Given the description of an element on the screen output the (x, y) to click on. 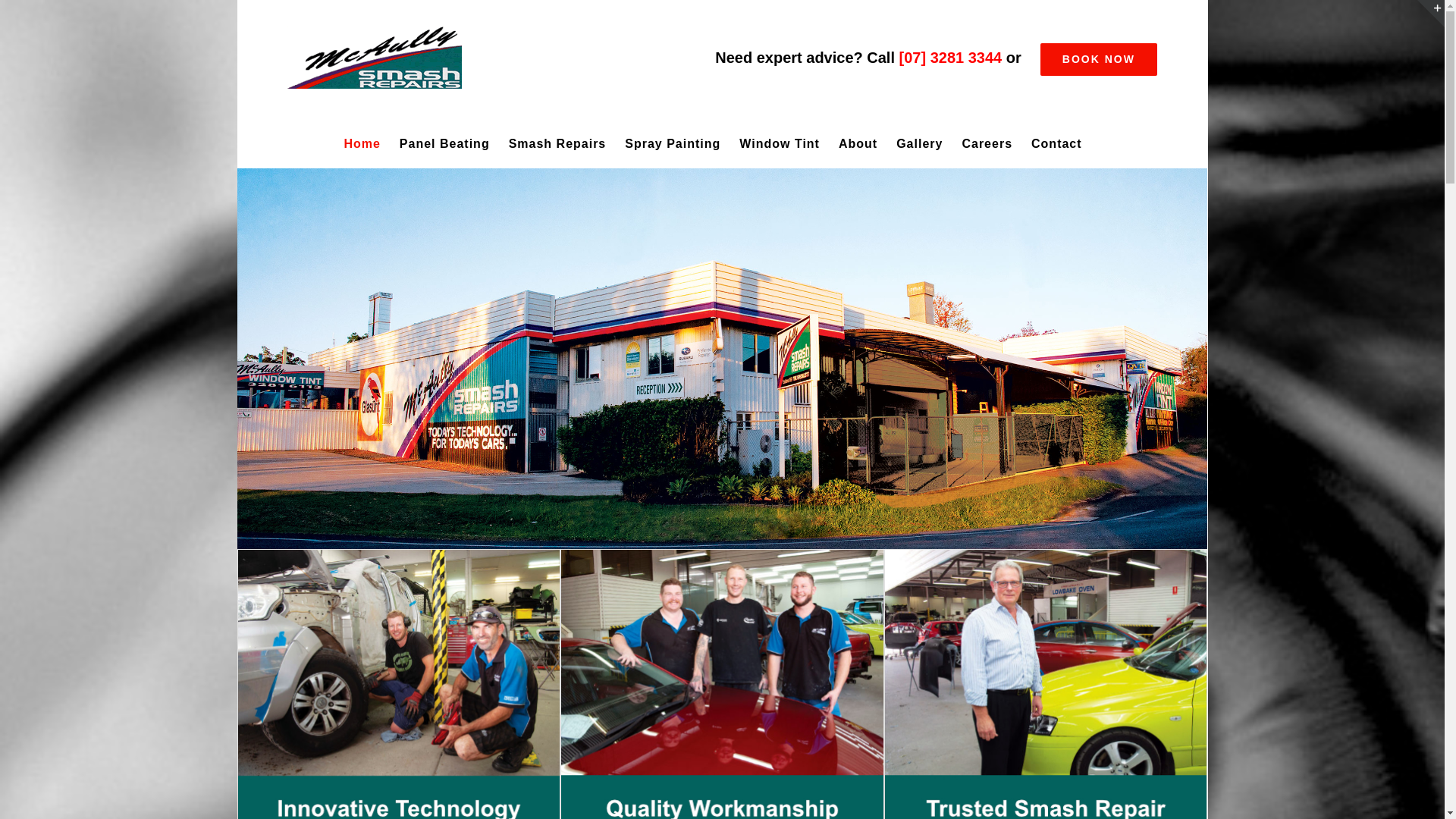
BOOK NOW Element type: text (1098, 59)
Contact Element type: text (1056, 143)
Smash Repairs Element type: text (557, 143)
Gallery Element type: text (919, 143)
Home Element type: text (361, 143)
About Element type: text (857, 143)
Spray Painting Element type: text (672, 143)
[07] 3281 3344 Element type: text (950, 57)
Careers Element type: text (986, 143)
Window Tint Element type: text (779, 143)
Toggle Sliding Bar Area Element type: text (1430, 13)
Panel Beating Element type: text (444, 143)
